Given the description of an element on the screen output the (x, y) to click on. 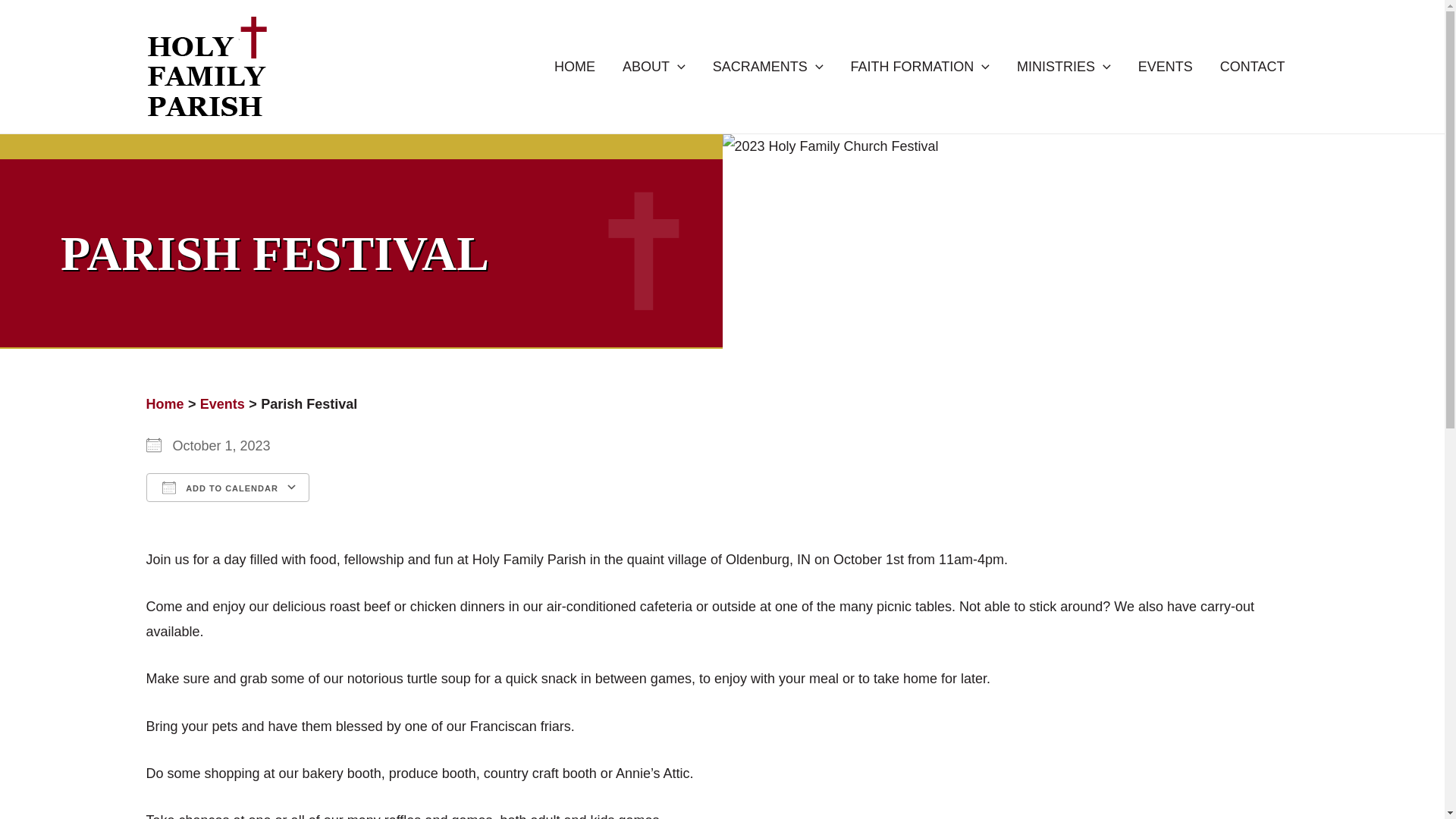
ABOUT (653, 66)
HOME (574, 66)
